Given the description of an element on the screen output the (x, y) to click on. 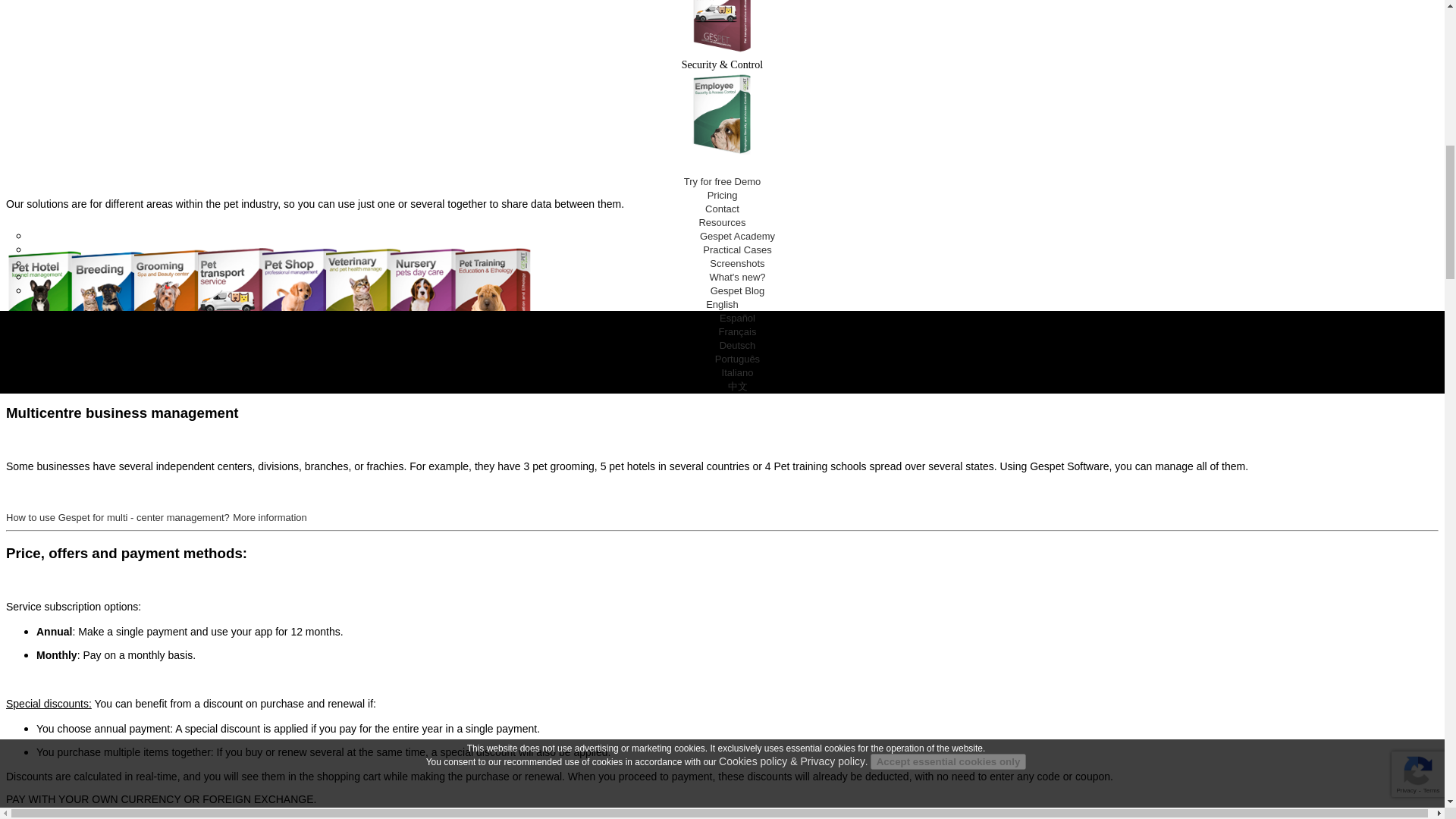
Contact (721, 208)
Gespet Academy (737, 235)
Deutsch (737, 345)
Italiano (738, 372)
English (722, 304)
Try for free Demo (722, 181)
Practical Cases (737, 249)
Screenshots (737, 263)
Resources (721, 222)
Gespet Blog (737, 290)
What's new? (737, 276)
Pricing (722, 194)
